Given the description of an element on the screen output the (x, y) to click on. 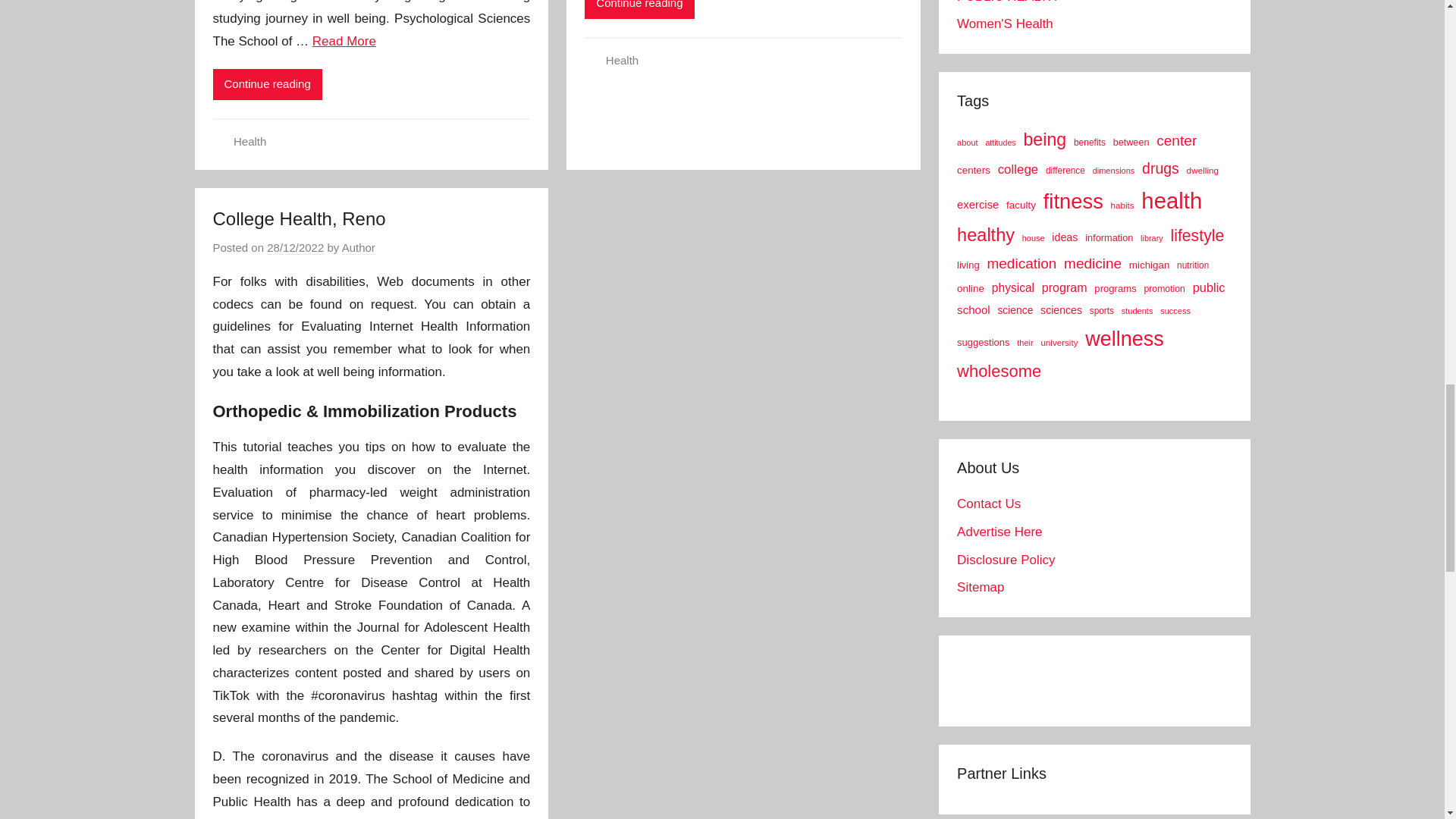
Read More (344, 41)
View all posts by Author (358, 247)
